Given the description of an element on the screen output the (x, y) to click on. 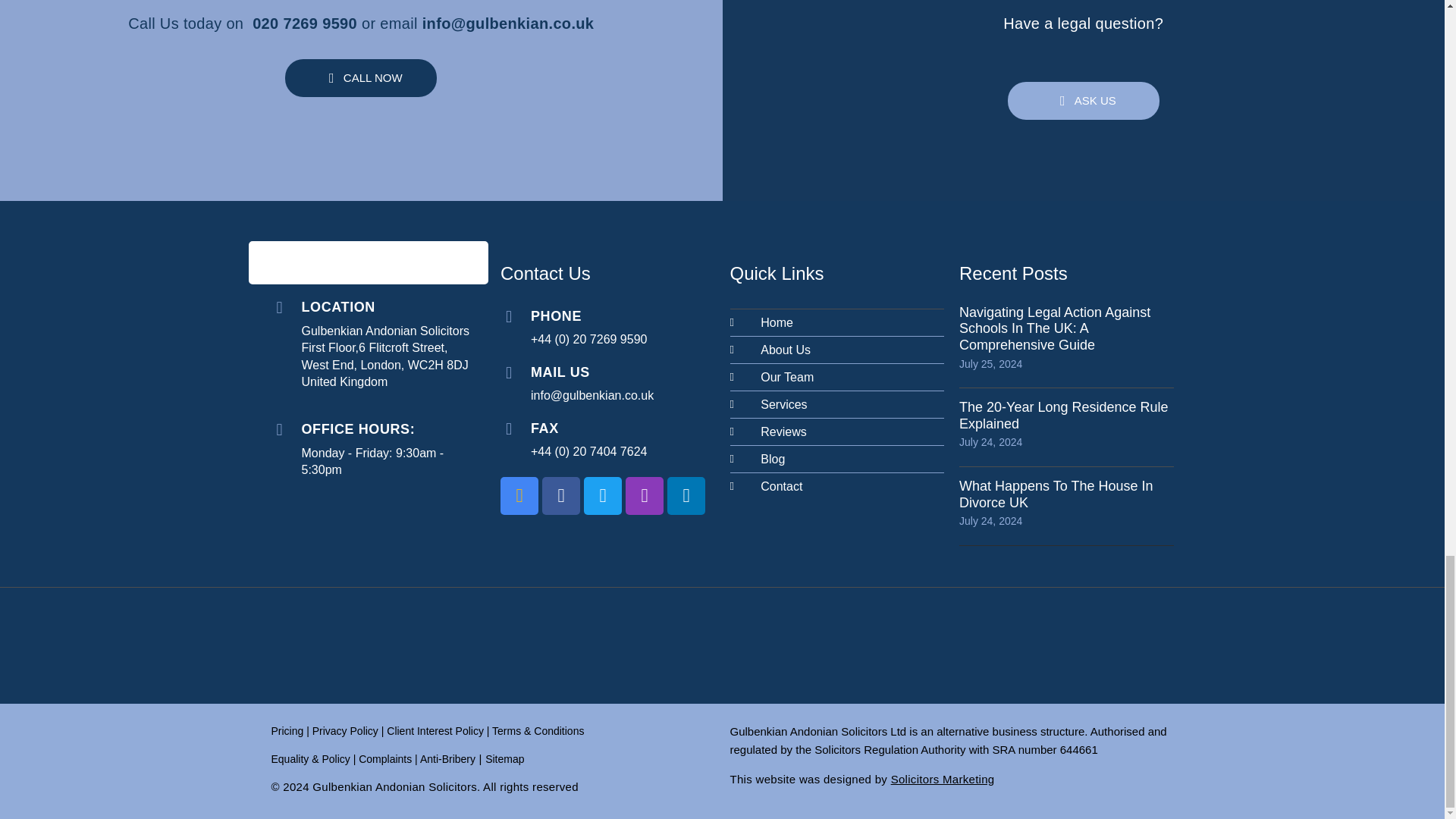
Anti Bribery Policy (448, 758)
Pricing (287, 730)
Privacy Policy (345, 730)
Privacy Policy (436, 730)
Complaints (385, 758)
